Given the description of an element on the screen output the (x, y) to click on. 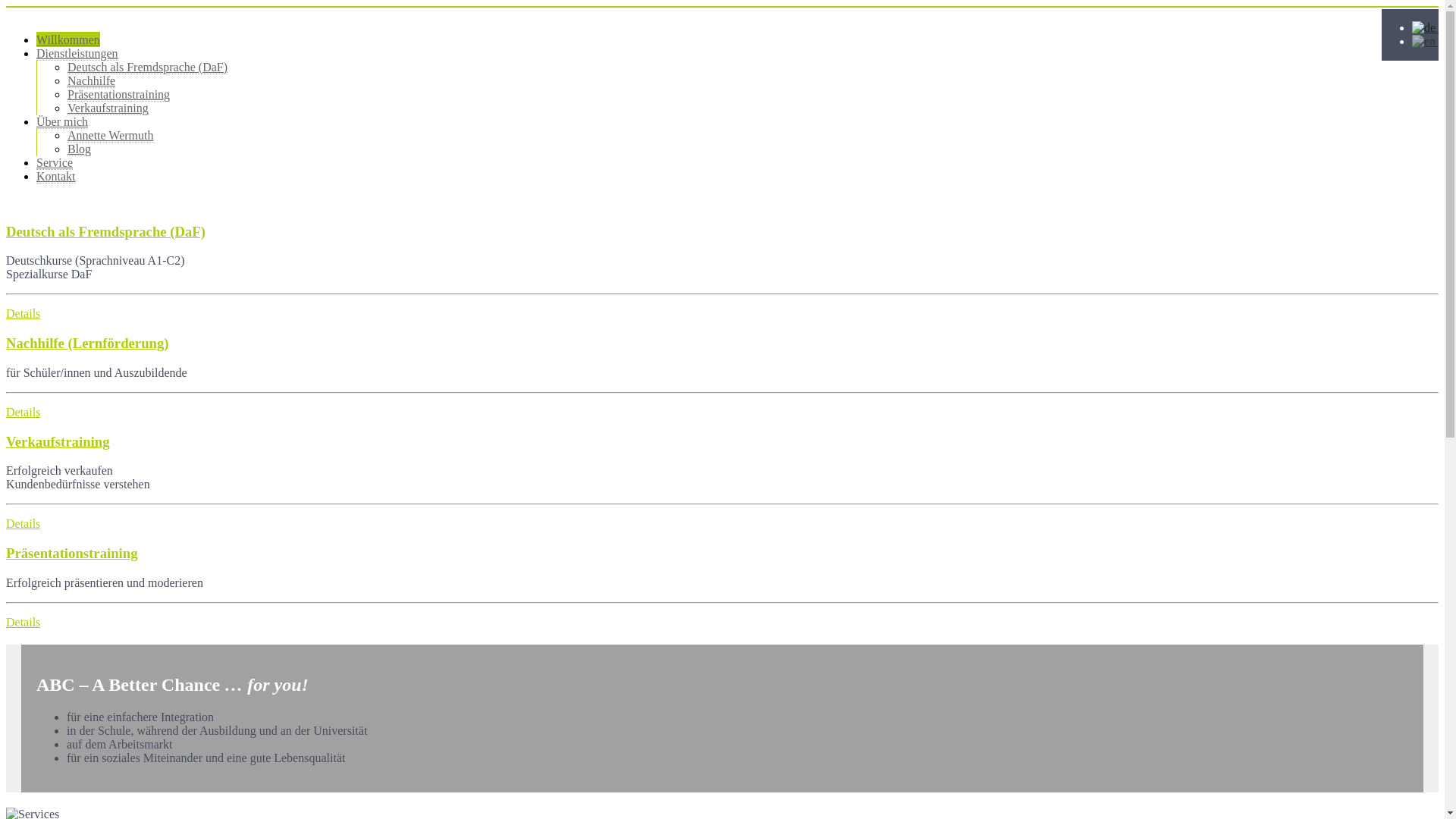
Details Element type: text (23, 313)
Deutsch als Fremdsprache (DaF) Element type: text (105, 231)
Kontakt Element type: text (55, 176)
Willkommen Element type: text (68, 39)
Details Element type: text (23, 621)
Annette Wermuth Element type: text (110, 135)
Blog Element type: text (79, 149)
Details Element type: text (23, 411)
Verkaufstraining Element type: text (57, 441)
English Element type: hover (1423, 41)
Verkaufstraining Element type: text (107, 108)
Deutsch Element type: hover (1423, 27)
Deutsch als Fremdsprache (DaF) Element type: text (147, 67)
Service Element type: text (54, 162)
Nachhilfe Element type: text (91, 80)
Details Element type: text (23, 523)
  Element type: text (1425, 27)
  Element type: text (1425, 41)
Dienstleistungen Element type: text (77, 53)
